Given the description of an element on the screen output the (x, y) to click on. 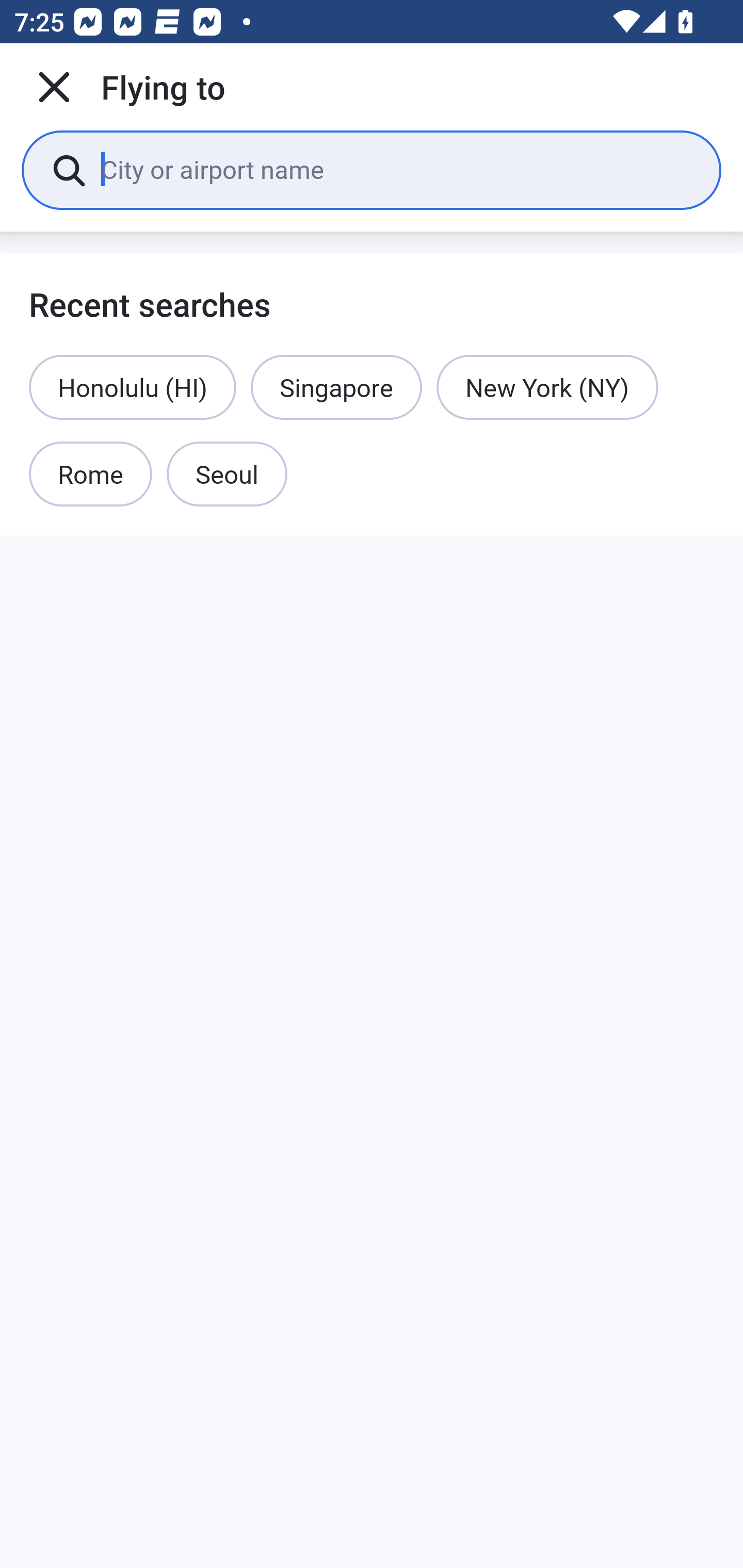
City or airport name (396, 169)
Honolulu (HI) (132, 387)
Singapore (336, 387)
New York (NY) (547, 387)
Rome (90, 474)
Seoul (226, 474)
